Given the description of an element on the screen output the (x, y) to click on. 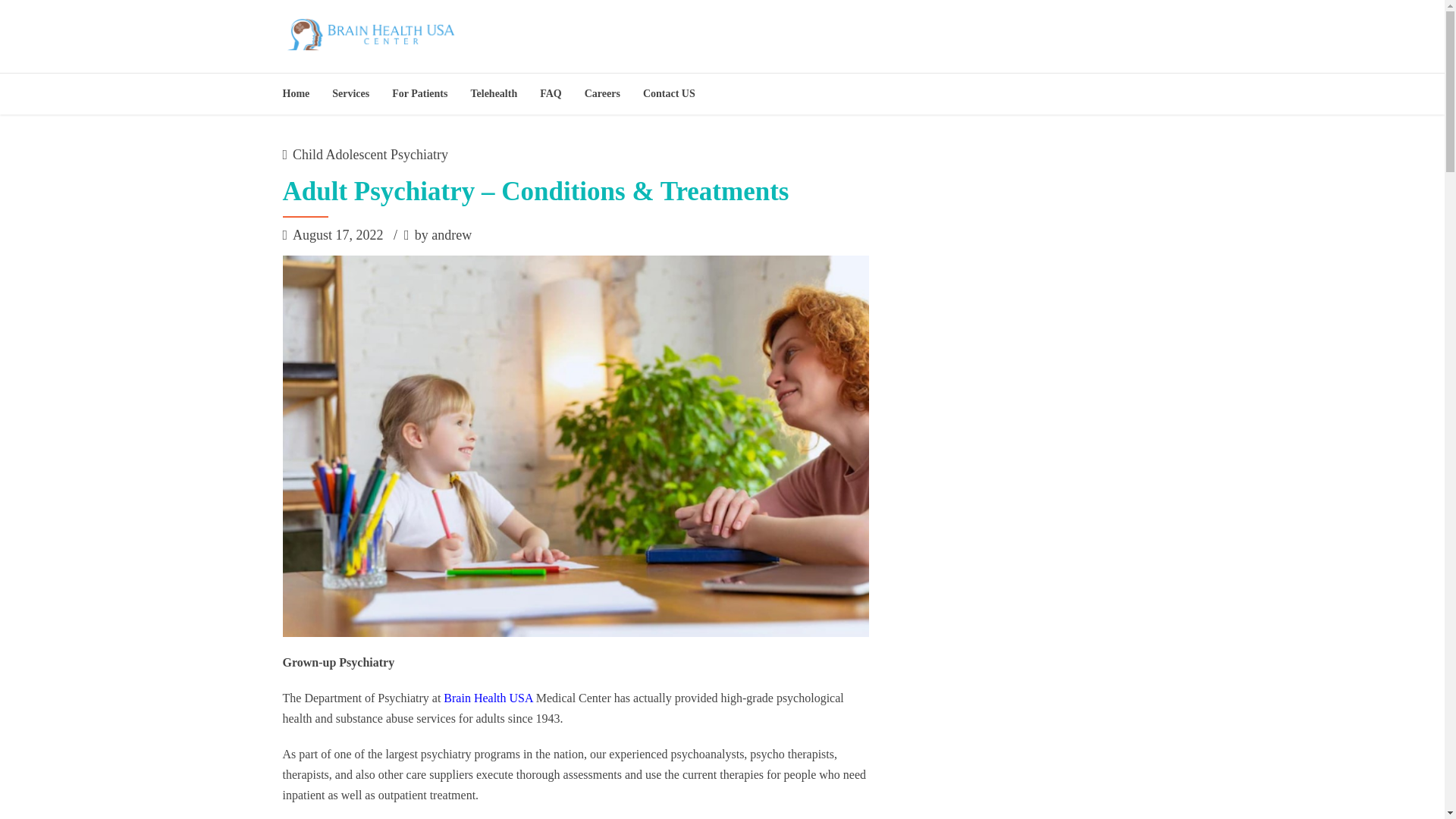
Telehealth (493, 93)
Child Adolescent Psychiatry (370, 155)
Services (350, 93)
Contact US (669, 93)
Brain Health USA (488, 697)
by andrew (437, 235)
For Patients (418, 93)
